Given the description of an element on the screen output the (x, y) to click on. 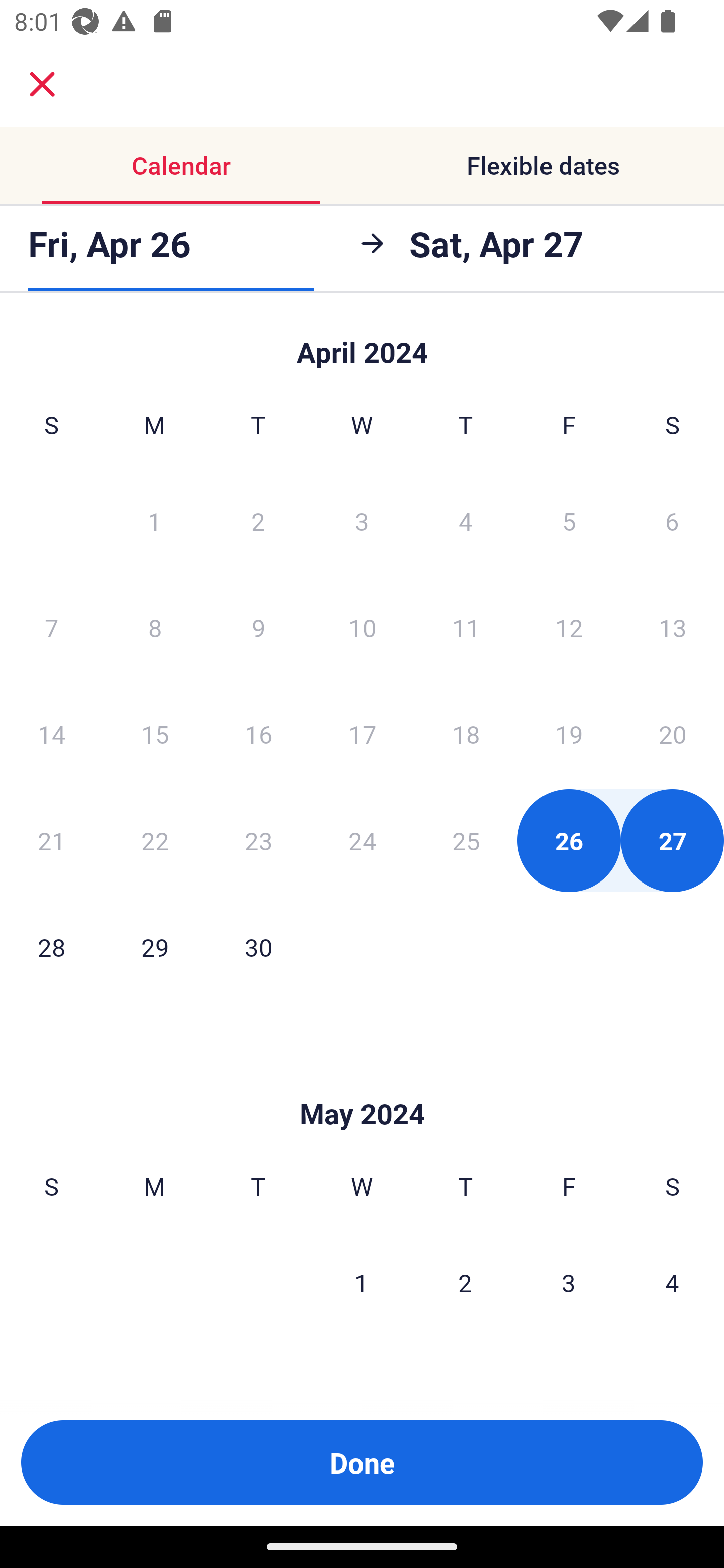
close. (42, 84)
Flexible dates (542, 164)
Skip to Done (362, 343)
1 Monday, April 1, 2024 (154, 520)
2 Tuesday, April 2, 2024 (257, 520)
3 Wednesday, April 3, 2024 (361, 520)
4 Thursday, April 4, 2024 (465, 520)
5 Friday, April 5, 2024 (568, 520)
6 Saturday, April 6, 2024 (672, 520)
7 Sunday, April 7, 2024 (51, 626)
8 Monday, April 8, 2024 (155, 626)
9 Tuesday, April 9, 2024 (258, 626)
10 Wednesday, April 10, 2024 (362, 626)
11 Thursday, April 11, 2024 (465, 626)
12 Friday, April 12, 2024 (569, 626)
13 Saturday, April 13, 2024 (672, 626)
14 Sunday, April 14, 2024 (51, 733)
15 Monday, April 15, 2024 (155, 733)
16 Tuesday, April 16, 2024 (258, 733)
17 Wednesday, April 17, 2024 (362, 733)
18 Thursday, April 18, 2024 (465, 733)
19 Friday, April 19, 2024 (569, 733)
20 Saturday, April 20, 2024 (672, 733)
21 Sunday, April 21, 2024 (51, 840)
22 Monday, April 22, 2024 (155, 840)
23 Tuesday, April 23, 2024 (258, 840)
24 Wednesday, April 24, 2024 (362, 840)
25 Thursday, April 25, 2024 (465, 840)
28 Sunday, April 28, 2024 (51, 946)
29 Monday, April 29, 2024 (155, 946)
30 Tuesday, April 30, 2024 (258, 946)
Skip to Done (362, 1083)
1 Wednesday, May 1, 2024 (361, 1282)
2 Thursday, May 2, 2024 (464, 1282)
3 Friday, May 3, 2024 (568, 1282)
4 Saturday, May 4, 2024 (672, 1282)
Done (361, 1462)
